Given the description of an element on the screen output the (x, y) to click on. 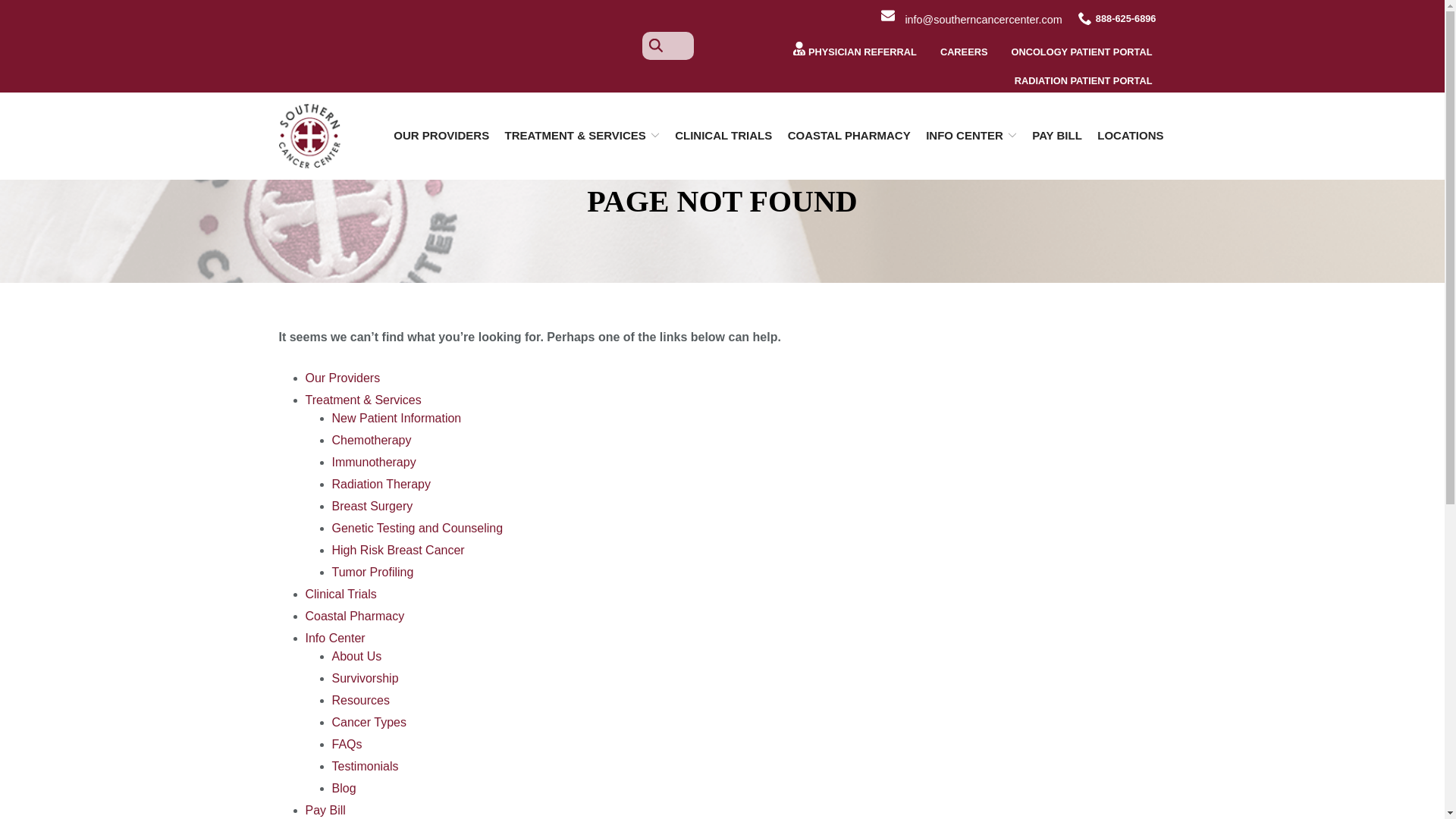
INFO CENTER (971, 134)
PAY BILL (1056, 134)
888-625-6896 (1117, 16)
LOCATIONS (1130, 134)
RADIATION PATIENT PORTAL (1083, 78)
COASTAL PHARMACY (849, 134)
OUR PROVIDERS (441, 134)
CLINICAL TRIALS (723, 134)
Search (21, 7)
ONCOLOGY PATIENT PORTAL (1080, 50)
PHYSICIAN REFERRAL (854, 50)
CAREERS (963, 49)
